Given the description of an element on the screen output the (x, y) to click on. 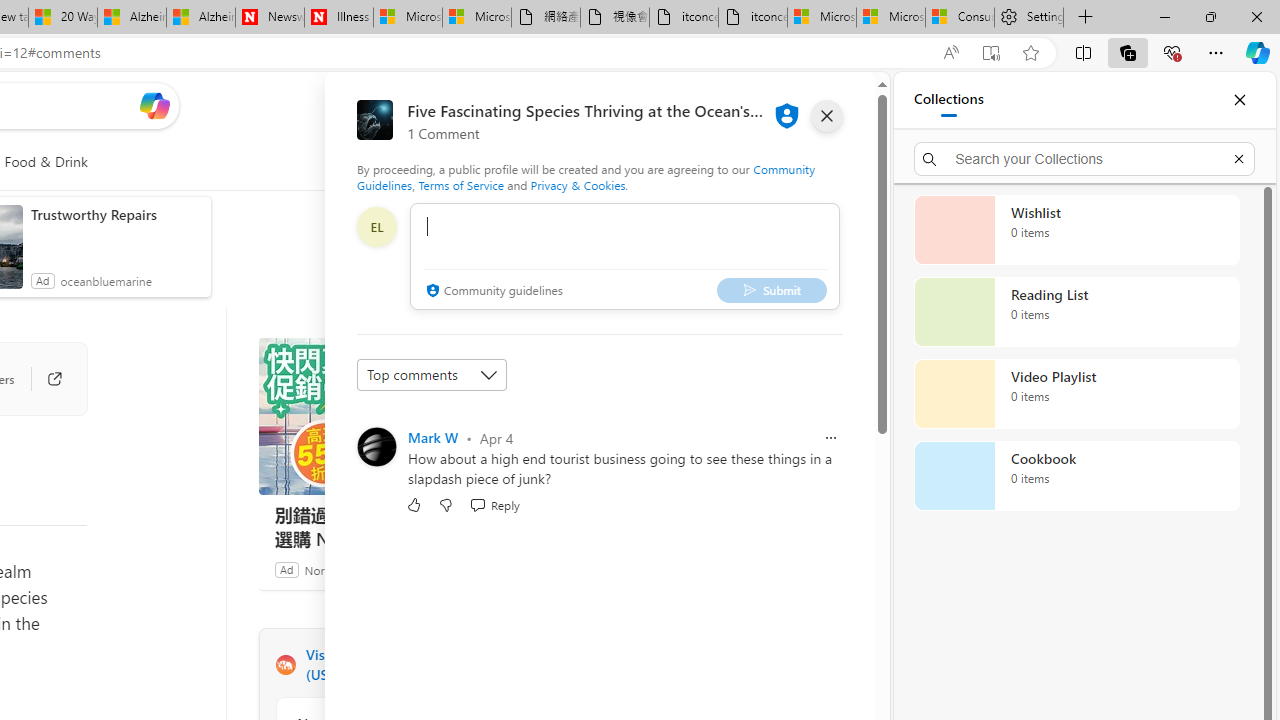
To get missing image descriptions, open the context menu. (471, 162)
Cookbook collection, 0 items (1076, 475)
Profile Picture (376, 446)
Go to publisher's site (44, 378)
comment-box (624, 256)
Notifications (790, 105)
Mark W (433, 437)
Consumer Health Data Privacy Policy (959, 17)
Reply Reply Comment (494, 504)
close (827, 115)
